Given the description of an element on the screen output the (x, y) to click on. 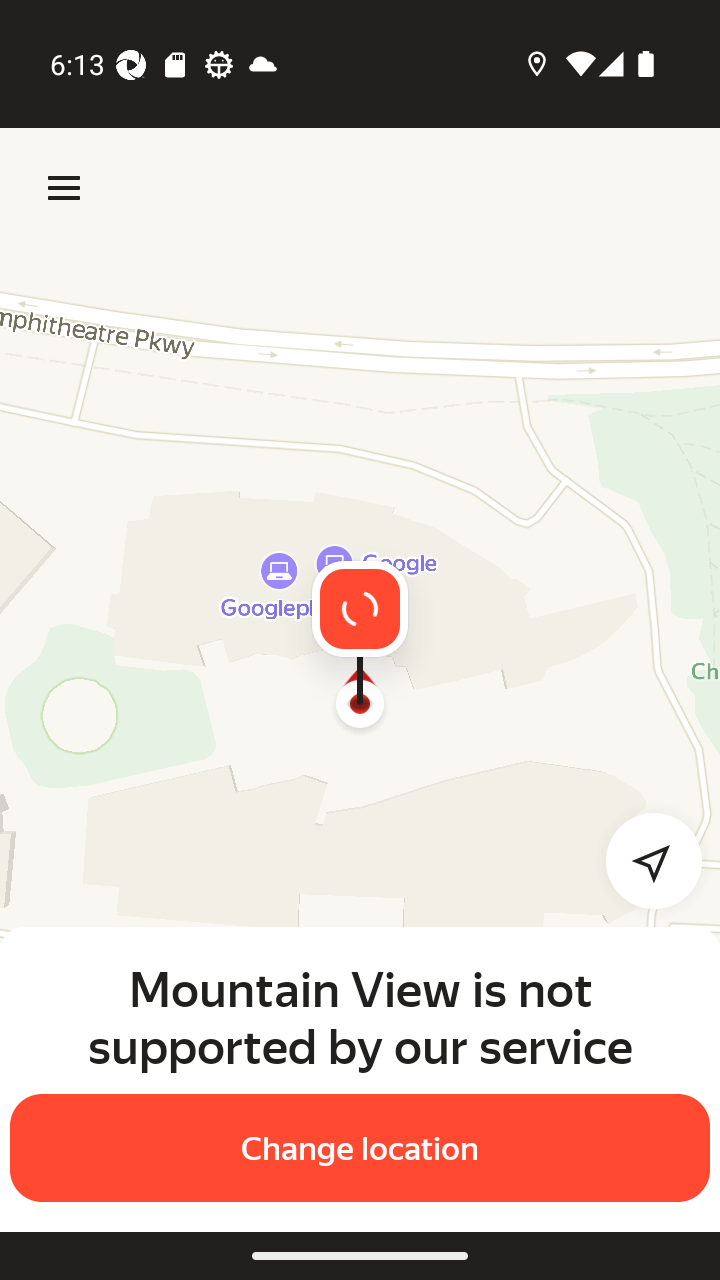
Menu Menu Menu (64, 188)
Detect my location (641, 860)
Mountain View is not supported by our service (360, 1017)
Change location (359, 1147)
